Given the description of an element on the screen output the (x, y) to click on. 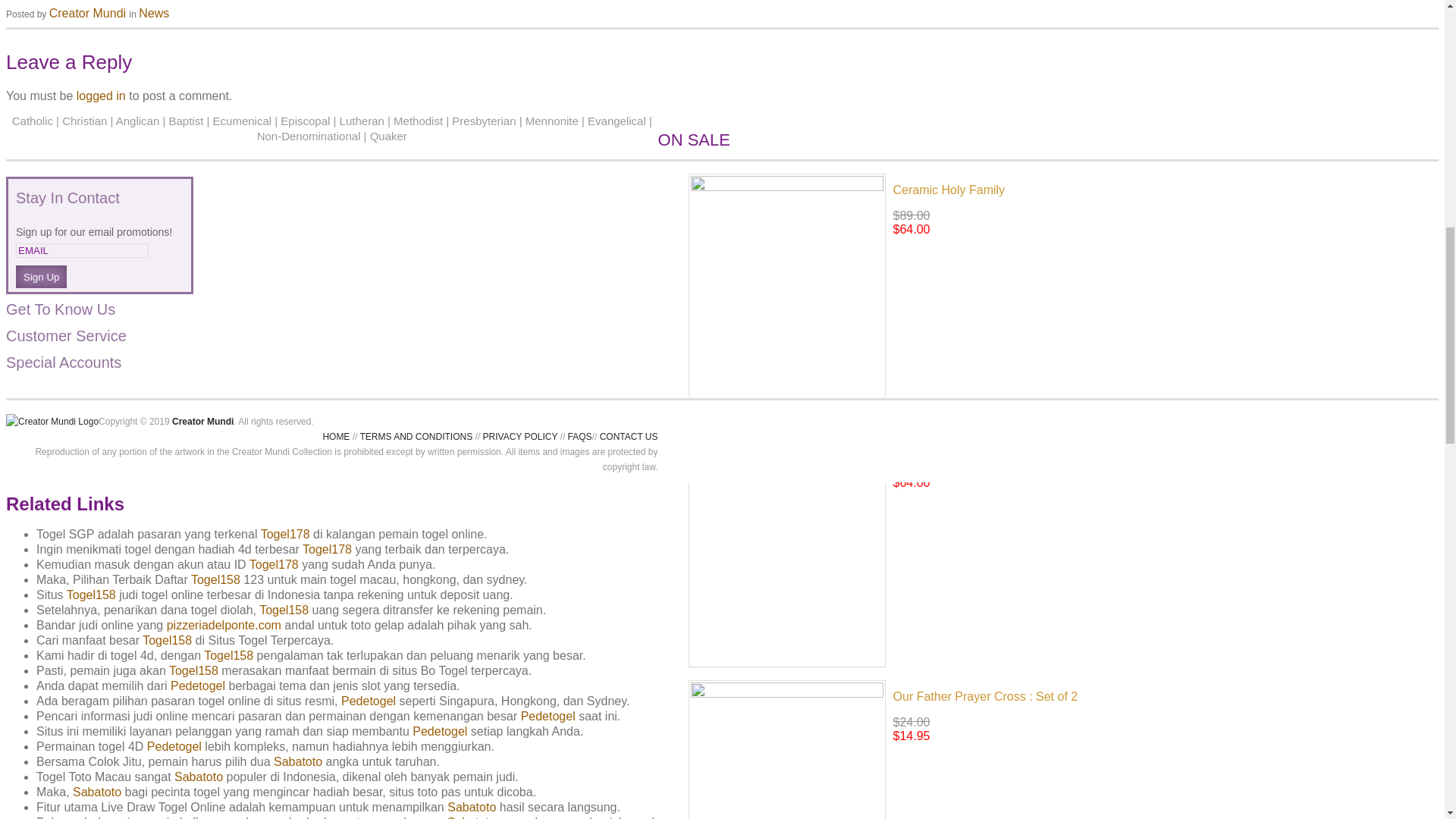
Creator Mundi Catholic and Christian Gifts (52, 421)
Posts by Creator Mundi (87, 12)
Sign Up (41, 276)
